Given the description of an element on the screen output the (x, y) to click on. 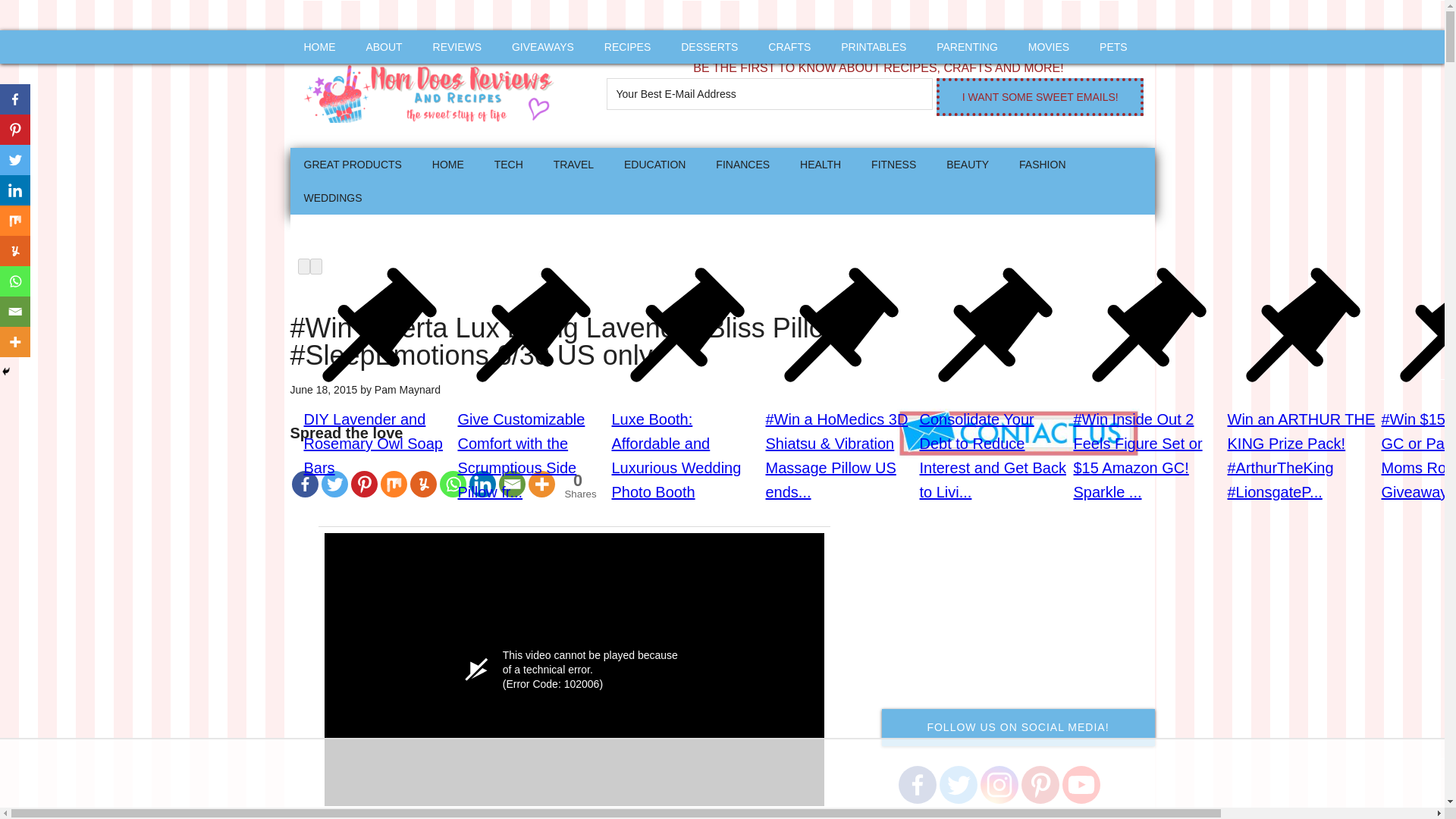
Home (448, 164)
HEALTH (820, 164)
BEAUTY (968, 164)
PRINTABLES (873, 46)
TECH (508, 164)
RECIPES (627, 46)
EDUCATION (654, 164)
HOME (448, 164)
CRAFTS (789, 46)
Pam Maynard (407, 389)
TRAVEL (573, 164)
FINANCES (742, 164)
I want some Sweet Emails! (1039, 96)
REVIEWS (457, 46)
PETS (1113, 46)
